Given the description of an element on the screen output the (x, y) to click on. 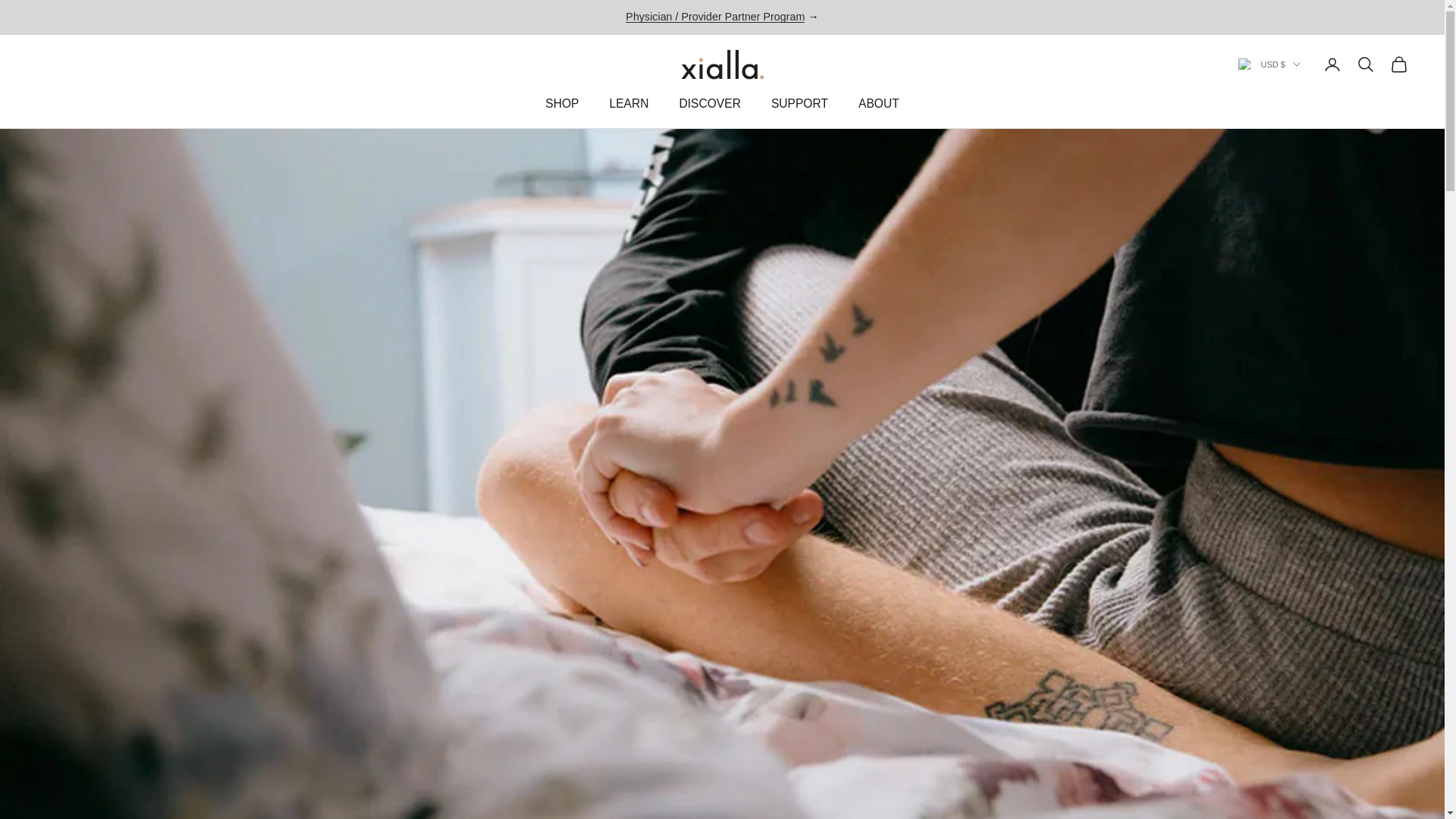
Open search (1365, 64)
Open account page (1331, 64)
SUPPORT (799, 105)
Partner Providers (715, 16)
Open cart (1398, 64)
Xialla (722, 64)
